Given the description of an element on the screen output the (x, y) to click on. 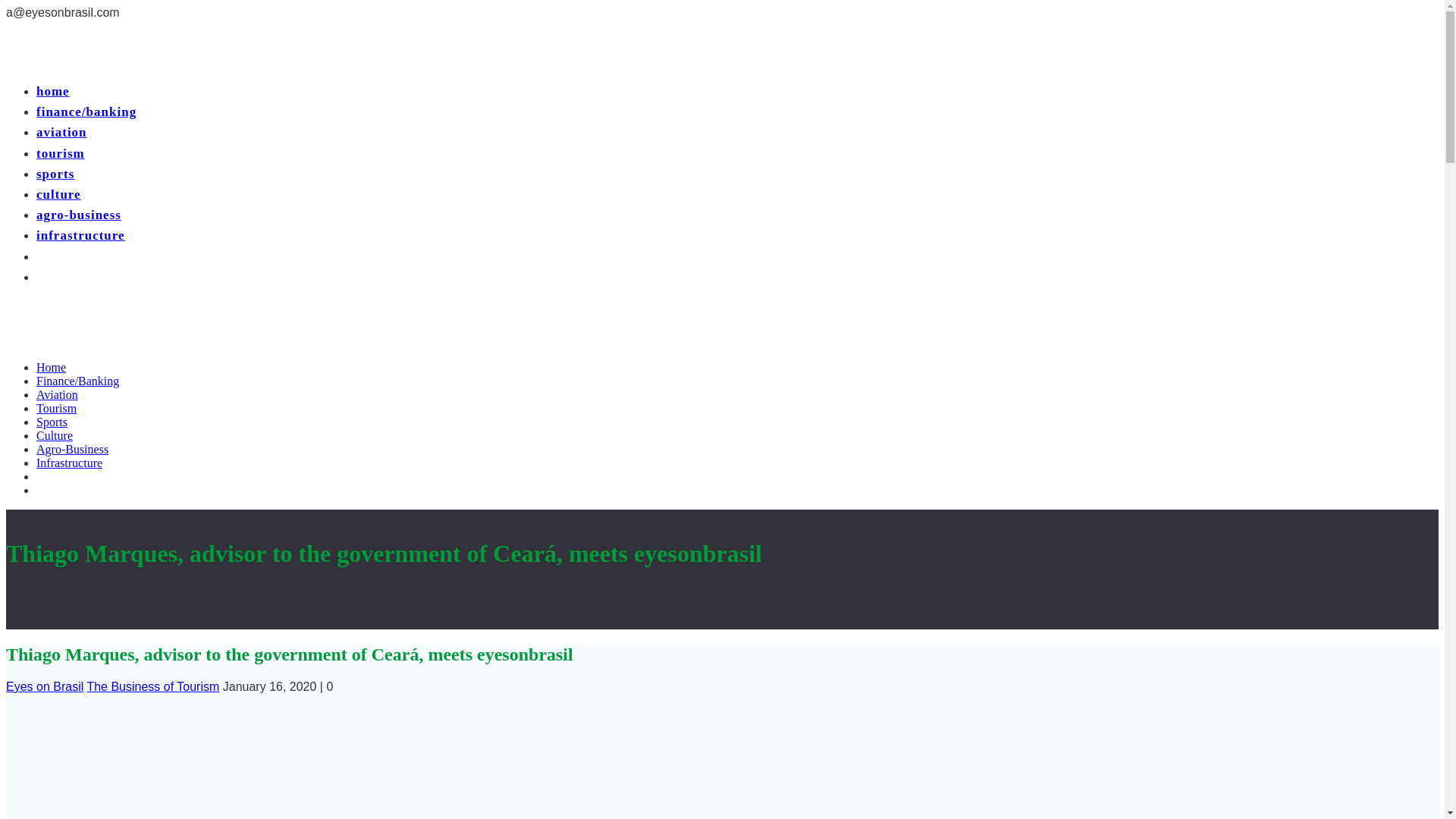
agro-business (78, 214)
Infrastructure (68, 462)
aviation (61, 132)
tourism (60, 153)
The Business of Tourism (152, 686)
Home (50, 367)
infrastructure (80, 235)
Culture (54, 435)
culture (58, 194)
Agro-Business (71, 449)
Tourism (56, 408)
Eyes on Brasil (43, 686)
Posts by Eyes on Brasil (43, 686)
Sports (51, 421)
